Given the description of an element on the screen output the (x, y) to click on. 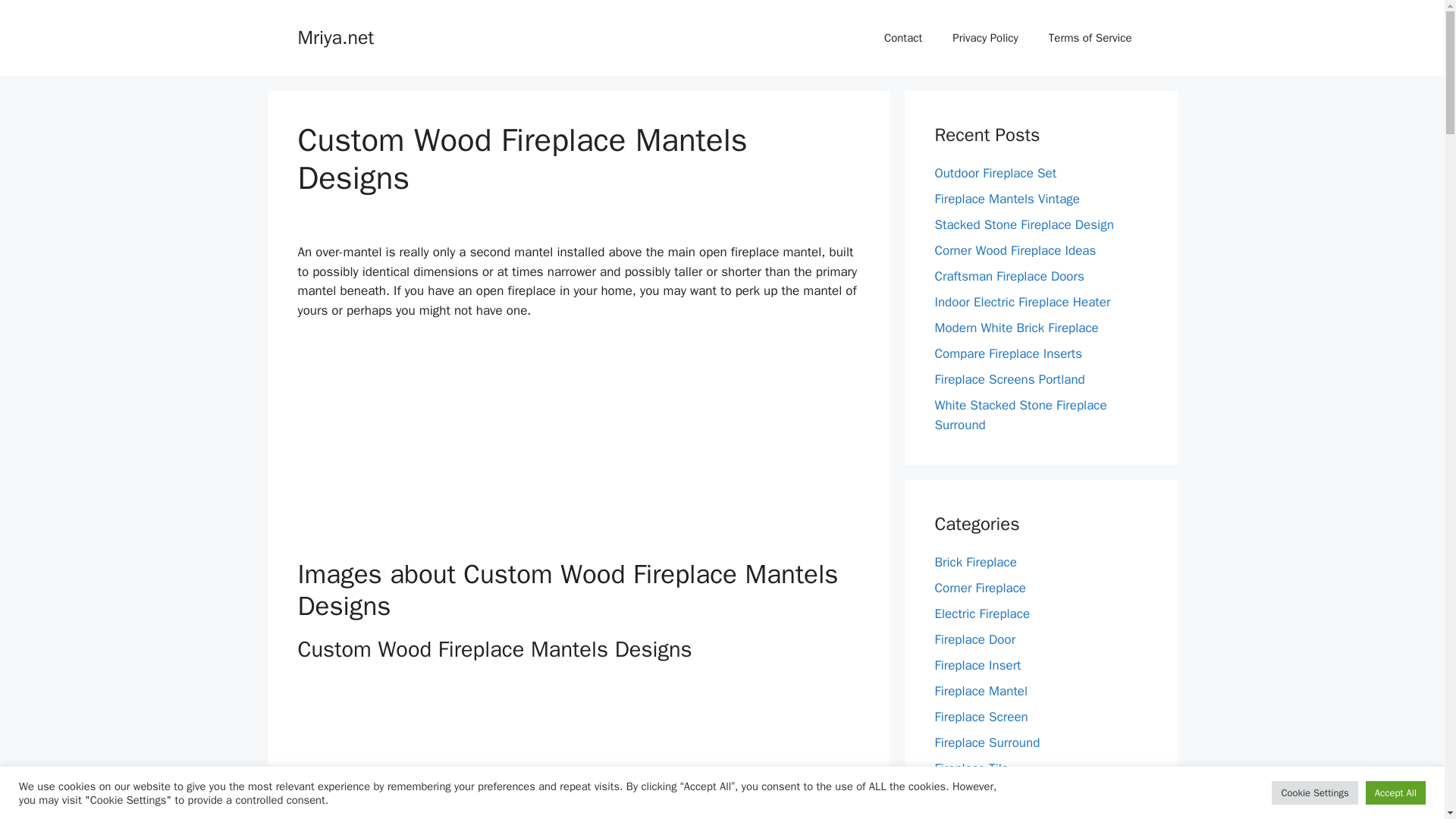
Fireplace Surround (986, 742)
Advertisement (578, 445)
Fireplace Screen (980, 716)
White Stacked Stone Fireplace Surround (1020, 415)
Outdoor Fireplace Set (995, 172)
Indoor Electric Fireplace Heater (1021, 302)
Compare Fireplace Inserts (1007, 353)
Gas Fireplace (972, 794)
Fireplace Insert (977, 665)
Fireplace Door (974, 639)
